Given the description of an element on the screen output the (x, y) to click on. 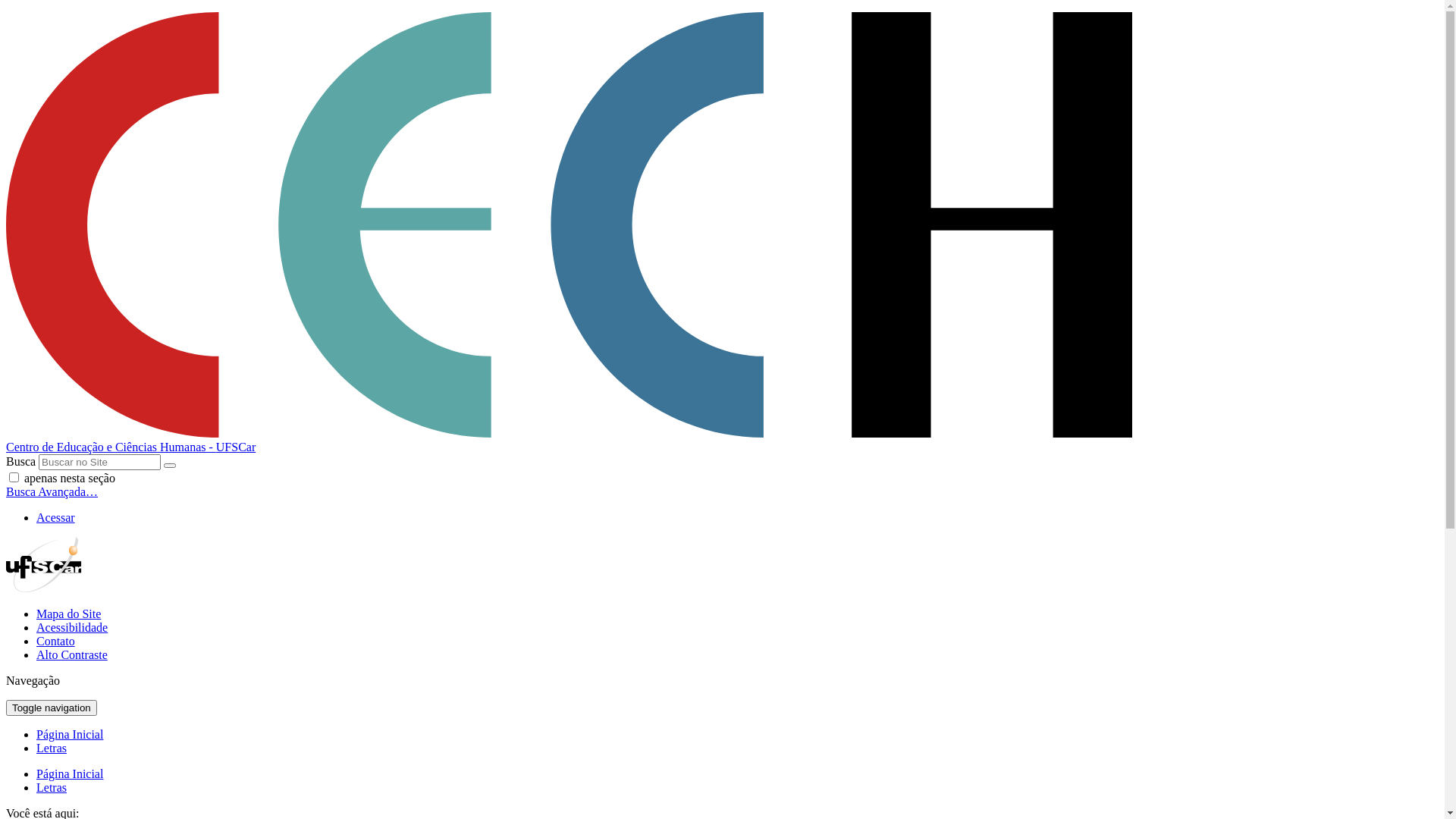
Alto Contraste Element type: text (71, 654)
Portal UFSCar Element type: hover (43, 587)
Buscar no Site Element type: hover (99, 462)
Toggle navigation Element type: text (51, 707)
Mapa do Site Element type: text (68, 613)
Acessibilidade Element type: text (71, 627)
Letras Element type: text (51, 747)
Contato Element type: text (55, 640)
Acessar Element type: text (55, 517)
Letras Element type: text (51, 787)
